Given the description of an element on the screen output the (x, y) to click on. 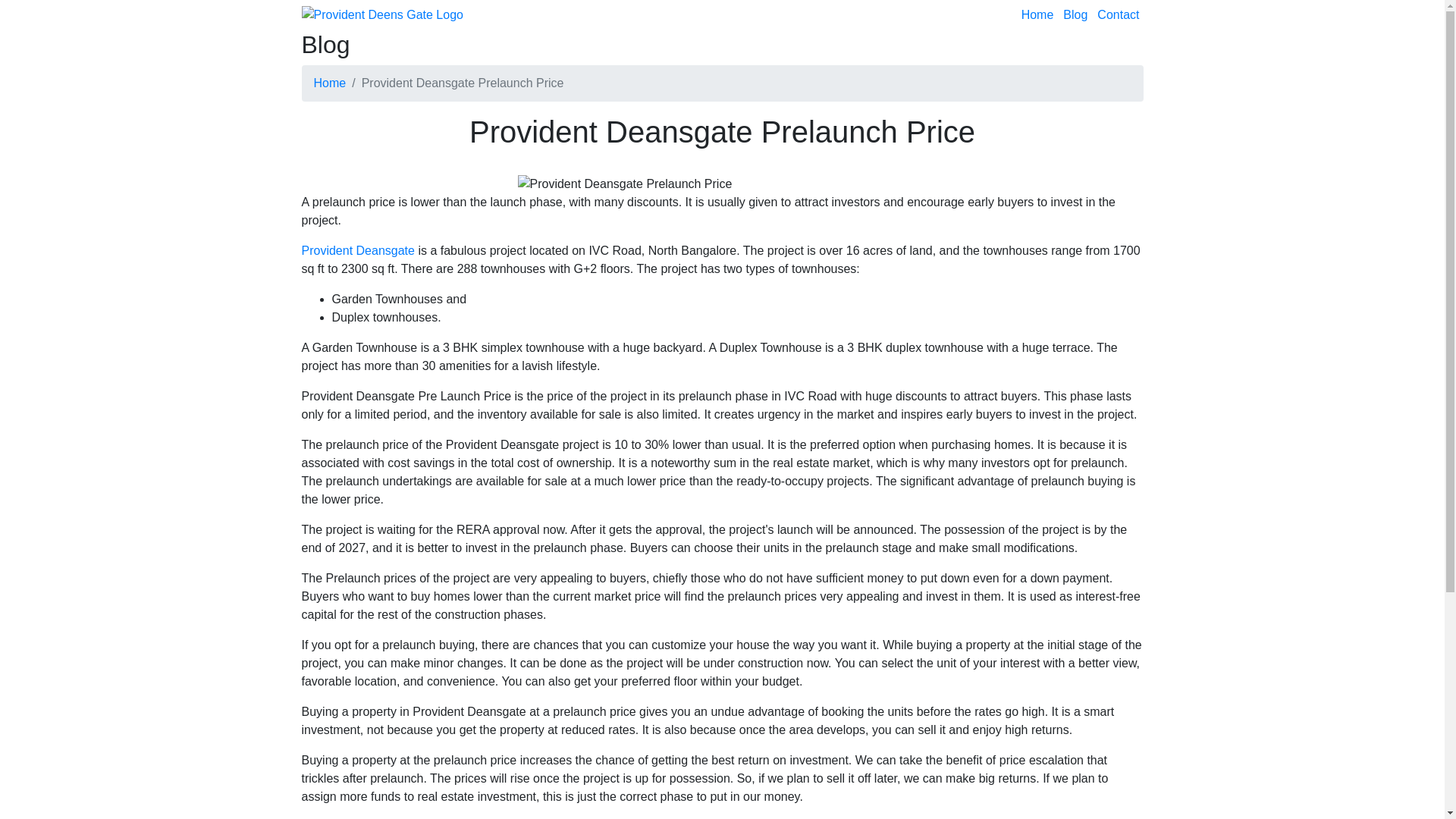
Provident Deansgate Prelaunch Price (624, 184)
Home (1036, 15)
Provident Deansgate (357, 250)
Contact (1116, 15)
Provident Deens Gate (1036, 15)
Provident Deens Gate Blog (1073, 15)
Provident Deens Gate Contact (1116, 15)
Provident Deansgate (357, 250)
Blog (1073, 15)
Home (330, 83)
